Given the description of an element on the screen output the (x, y) to click on. 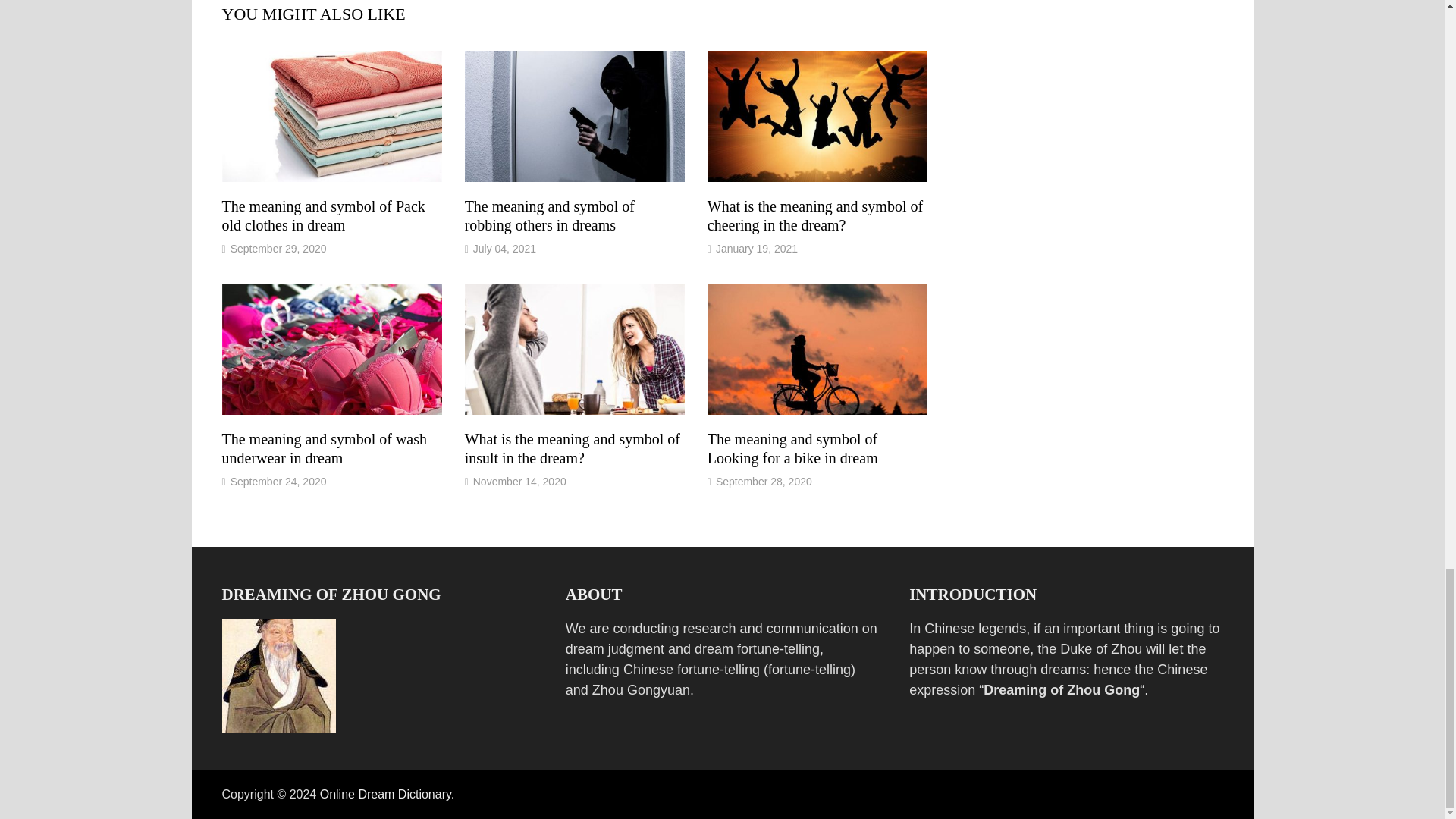
What is the meaning and symbol of insult in the dream? (571, 448)
What is the meaning and symbol of cheering in the dream? (815, 215)
The meaning and symbol of robbing others in dreams (549, 215)
The meaning and symbol of wash underwear in dream (323, 448)
The meaning and symbol of Pack old clothes in dream (323, 215)
The meaning and symbol of robbing others in dreams (549, 215)
The meaning and symbol of Pack old clothes in dream (323, 215)
The meaning and symbol of wash underwear in dream (323, 448)
September 24, 2020 (278, 481)
What is the meaning and symbol of insult in the dream? (571, 448)
July 04, 2021 (504, 248)
The meaning and symbol of Looking for a bike in dream (792, 448)
November 14, 2020 (519, 481)
January 19, 2021 (756, 248)
What is the meaning and symbol of cheering in the dream? (815, 215)
